Given the description of an element on the screen output the (x, y) to click on. 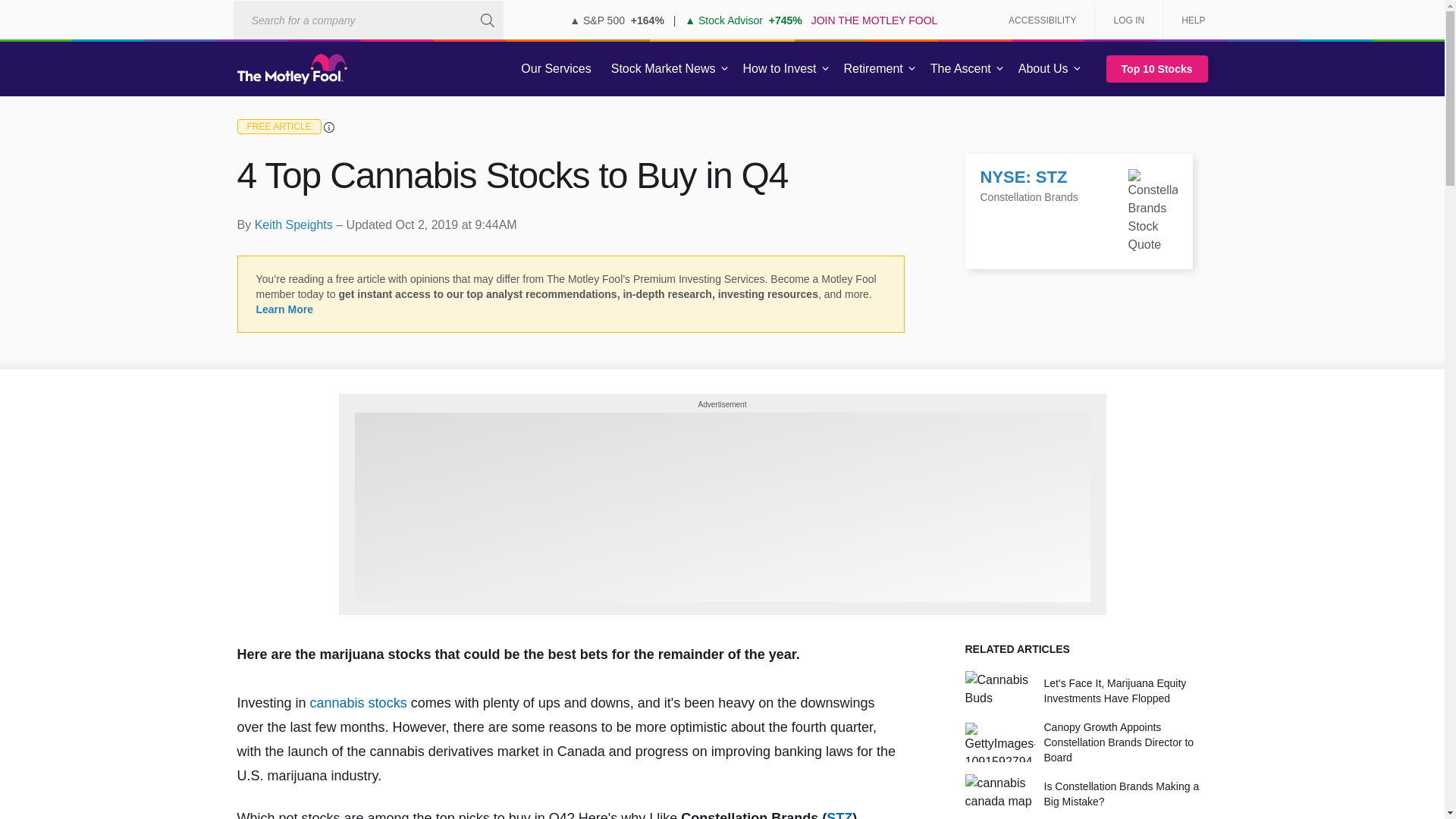
Stock Market News (662, 68)
How to Invest (779, 68)
HELP (1187, 19)
Our Services (555, 68)
ACCESSIBILITY (1042, 19)
LOG IN (1128, 19)
